Given the description of an element on the screen output the (x, y) to click on. 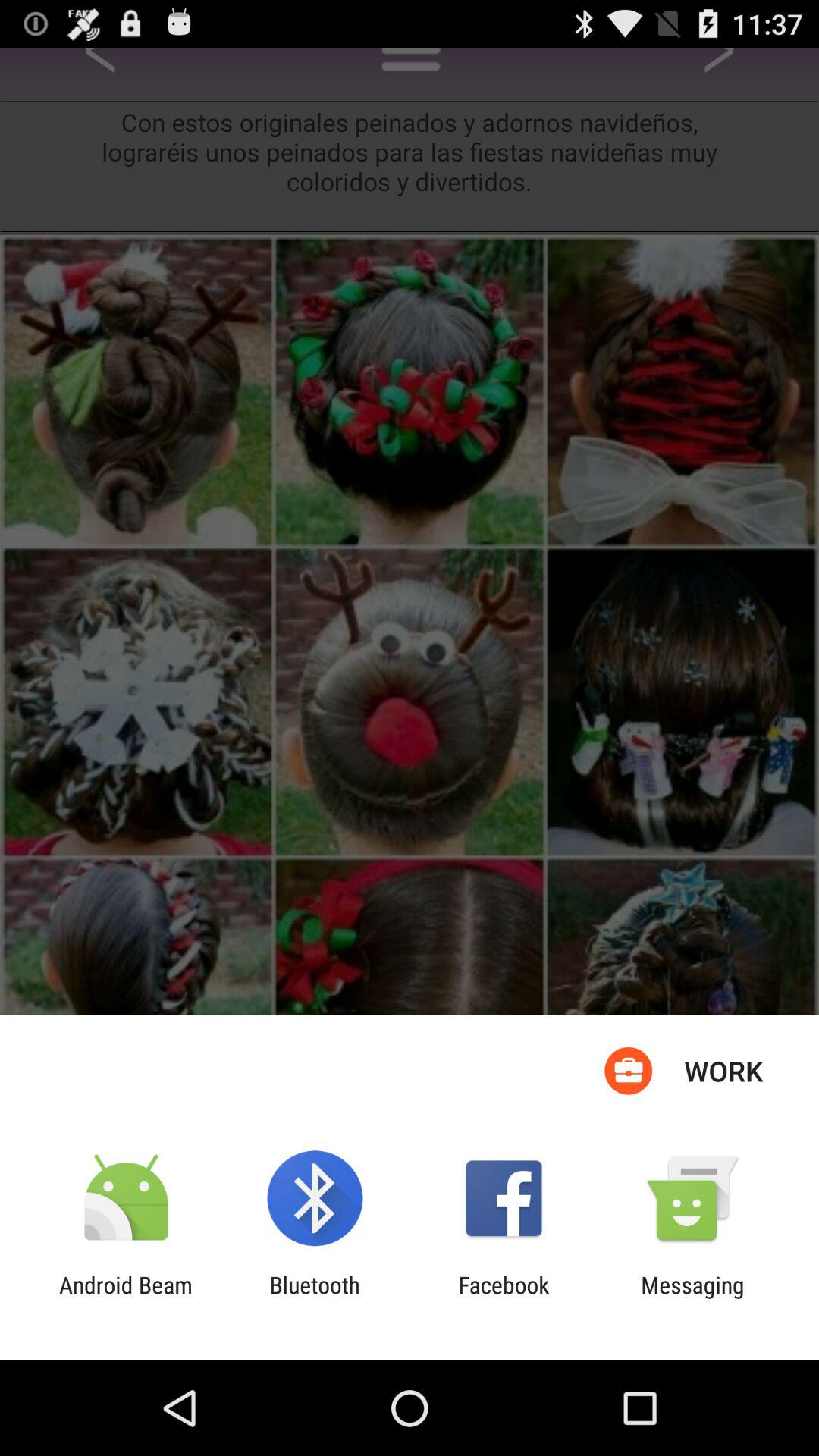
scroll to the bluetooth item (314, 1298)
